Given the description of an element on the screen output the (x, y) to click on. 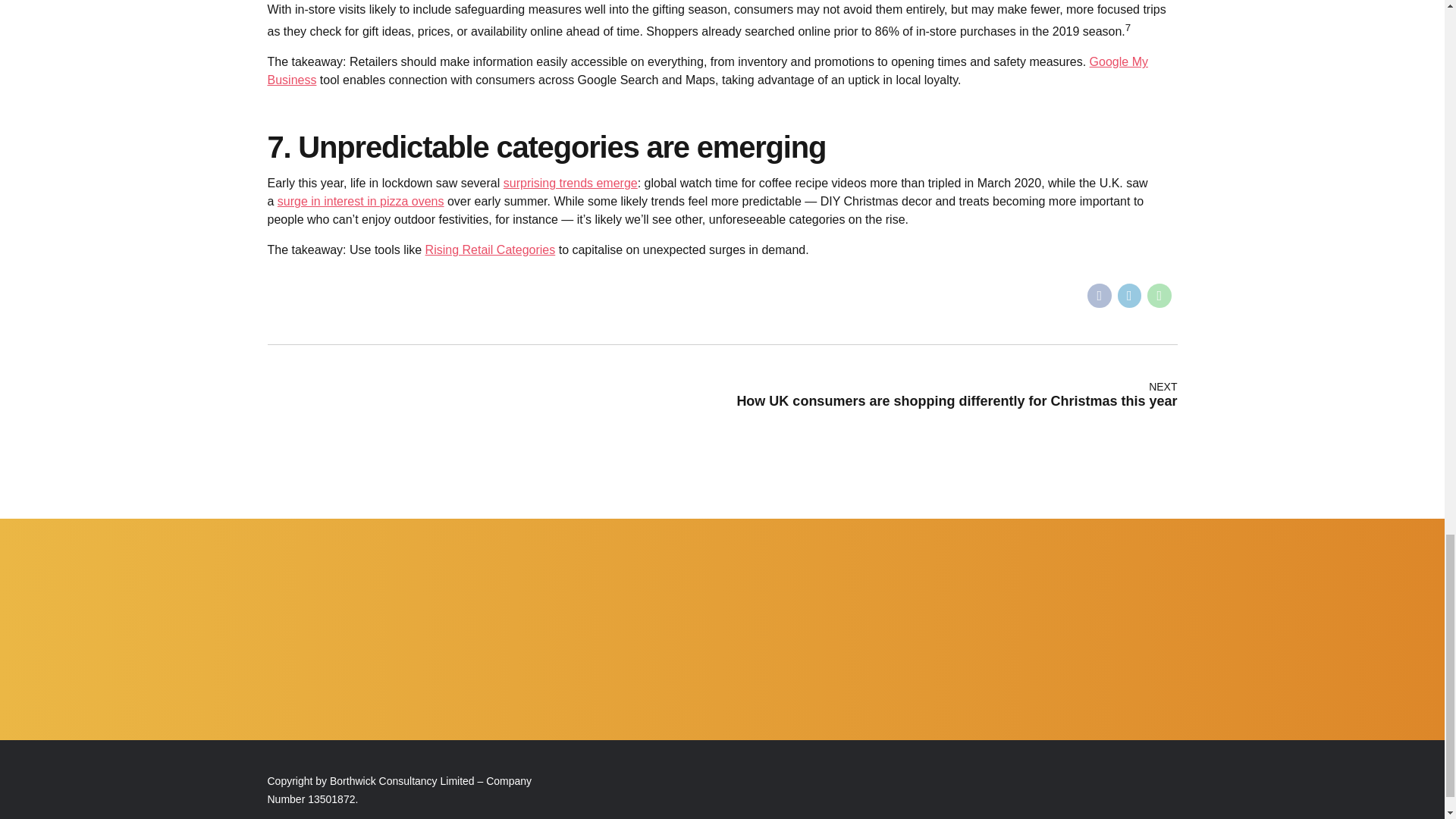
Share on WhatsApp (1159, 295)
Rising Retail Categories (490, 249)
Google My Business (706, 70)
Share on Linkedin (1129, 295)
Share on Facebook (1099, 295)
surge in interest in pizza ovens (361, 201)
surprising trends emerge (570, 182)
